Given the description of an element on the screen output the (x, y) to click on. 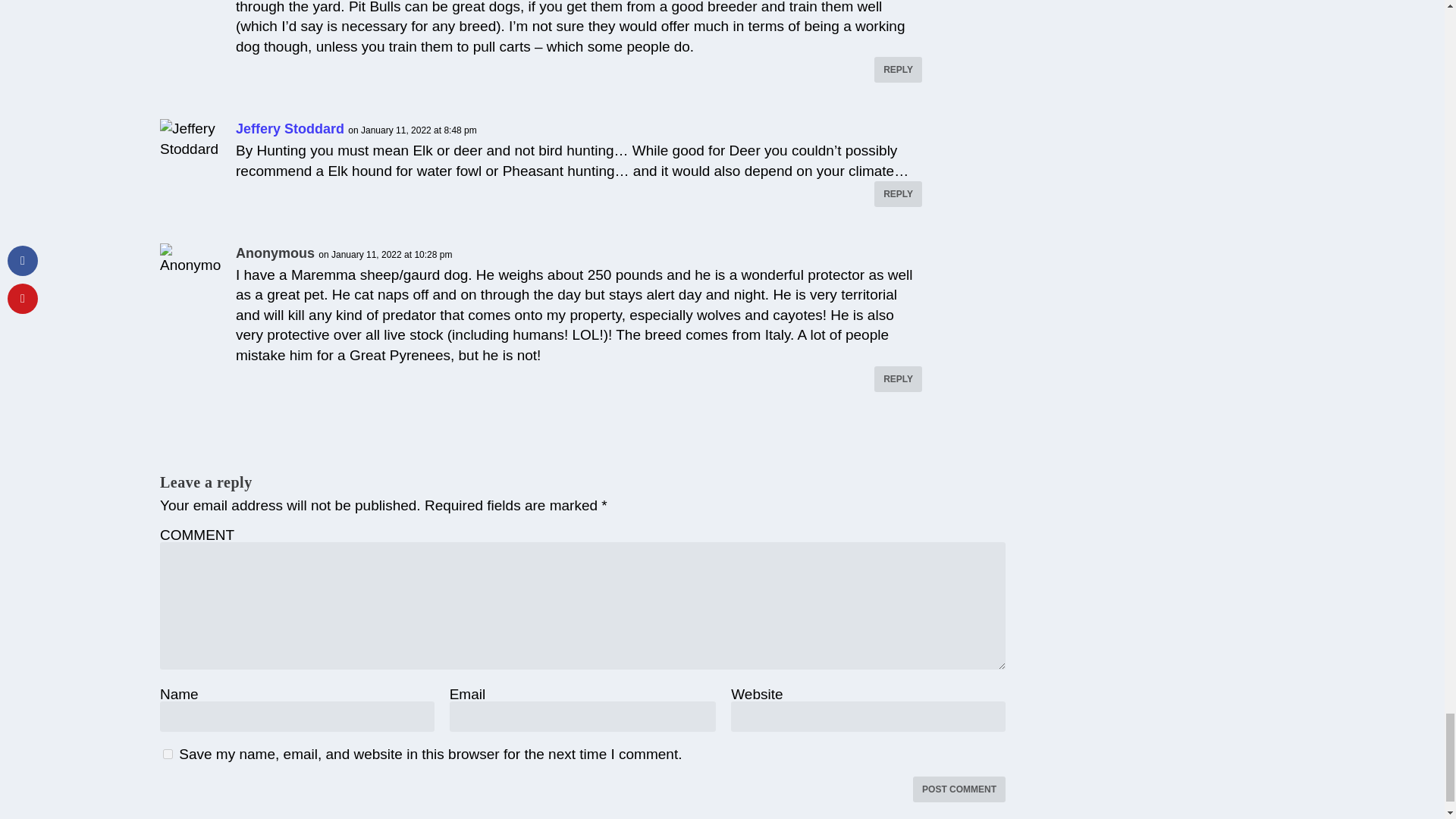
REPLY (898, 379)
REPLY (898, 69)
yes (168, 754)
REPLY (898, 193)
Post Comment (959, 789)
Jeffery Stoddard (289, 128)
